Given the description of an element on the screen output the (x, y) to click on. 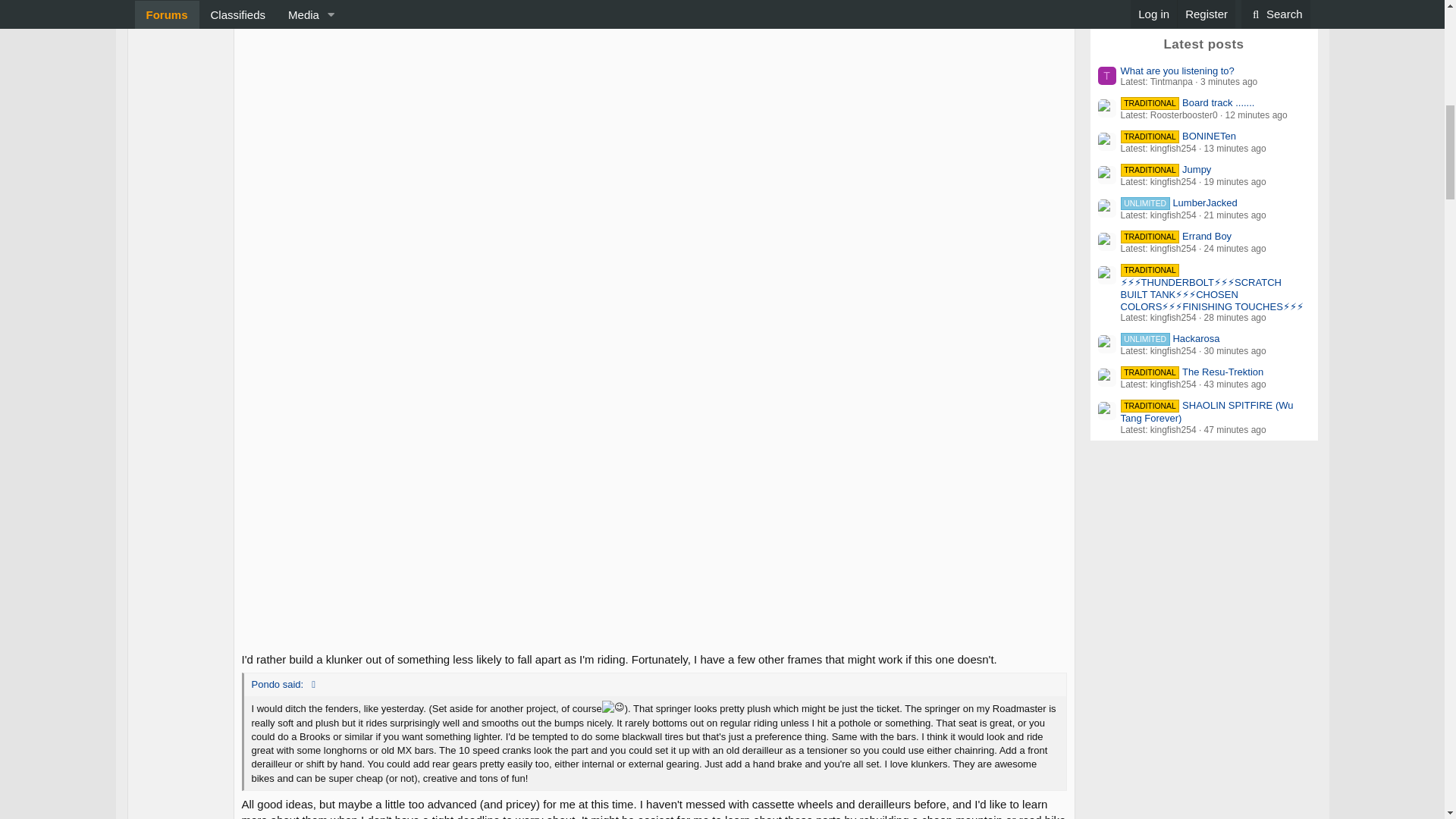
Winking face    :wink: (613, 707)
